Given the description of an element on the screen output the (x, y) to click on. 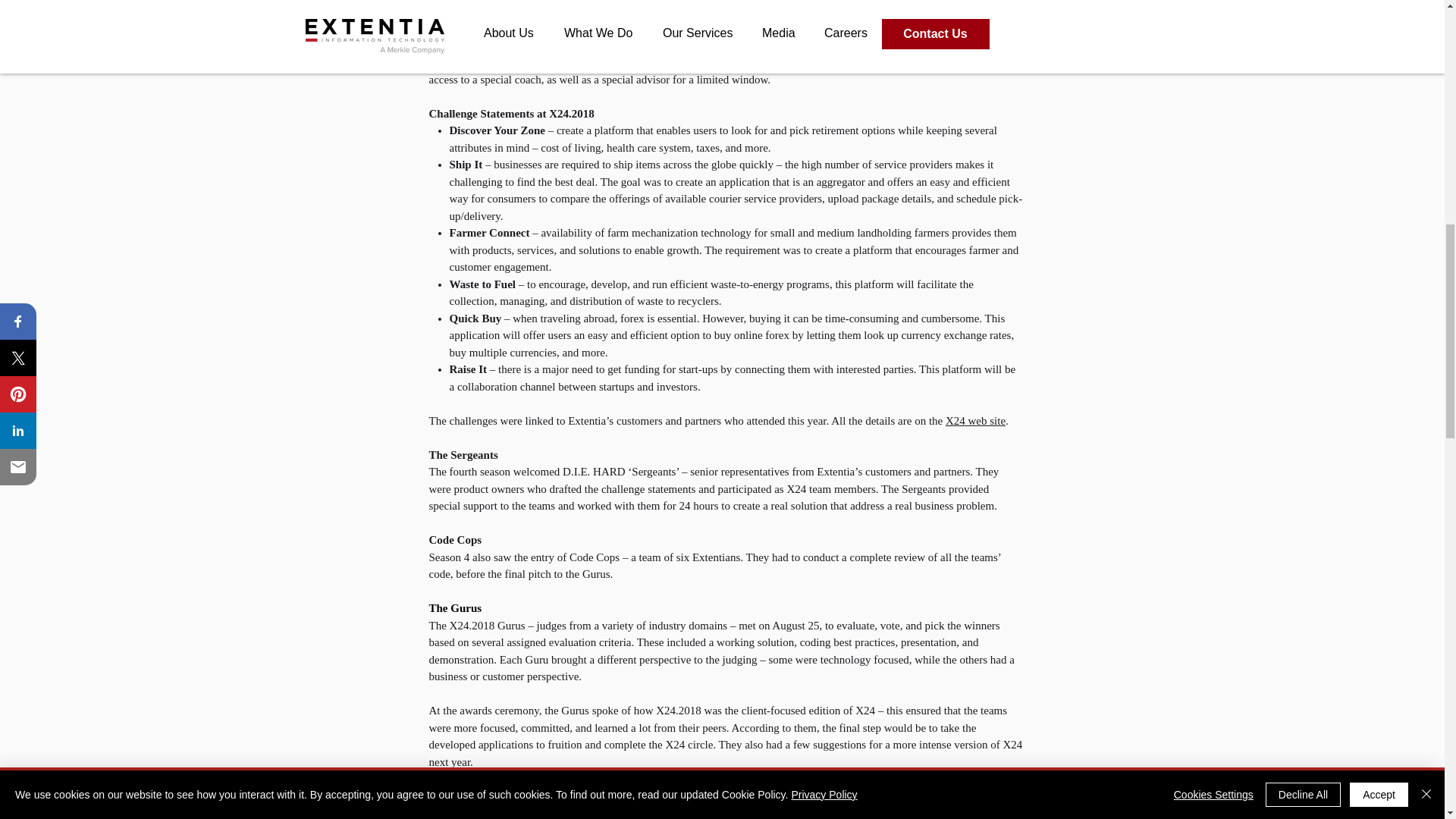
Legothon (777, 28)
live feed (569, 812)
video challenge (871, 28)
X24 web site (975, 419)
